Given the description of an element on the screen output the (x, y) to click on. 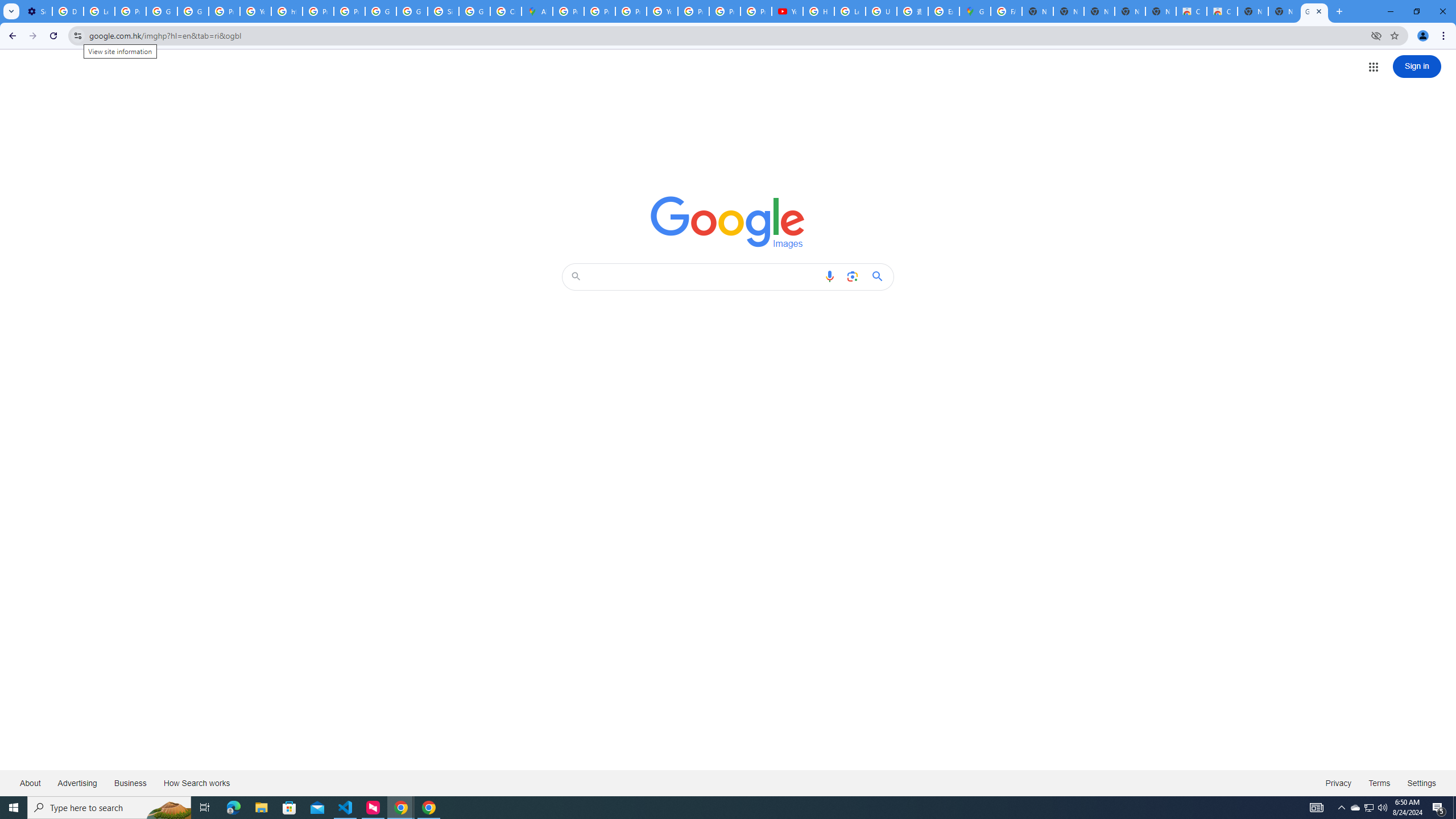
Classic Blue - Chrome Web Store (1190, 11)
Classic Blue - Chrome Web Store (1222, 11)
YouTube (787, 11)
